Given the description of an element on the screen output the (x, y) to click on. 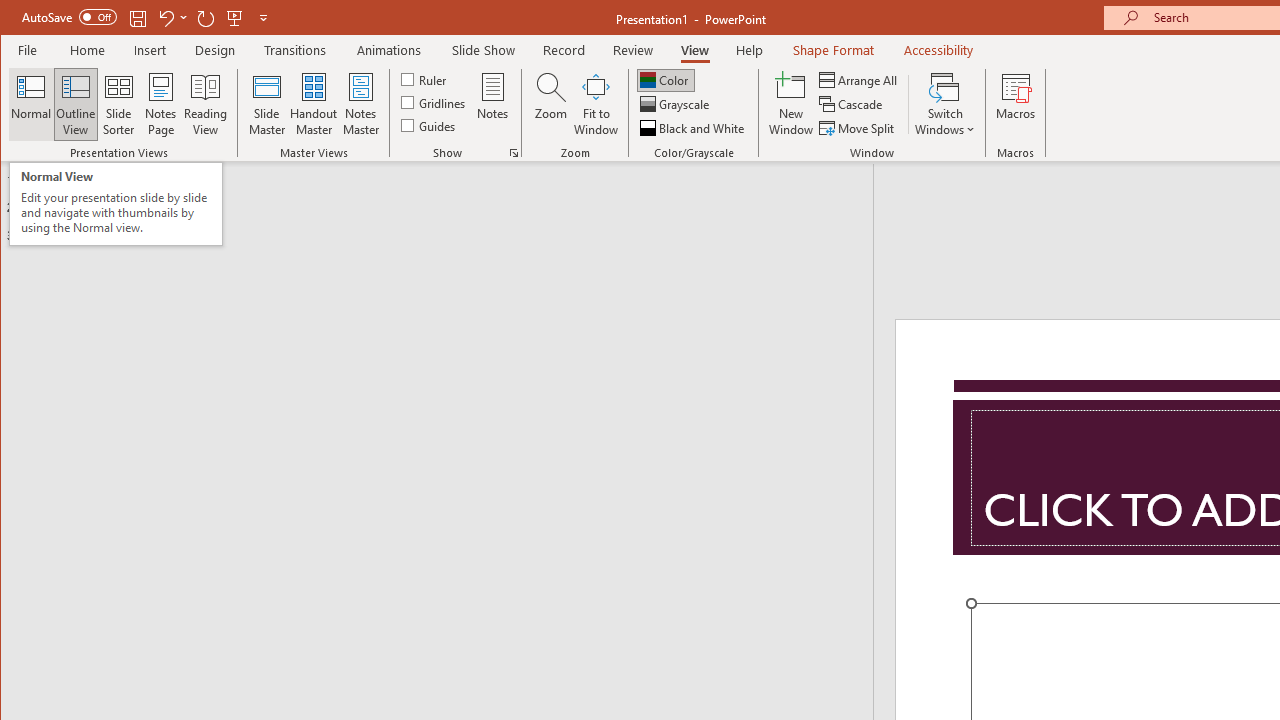
Handout Master (314, 104)
Ruler (425, 78)
Arrange All (859, 80)
Guides (430, 124)
Cascade (852, 103)
Color (666, 80)
Gridlines (435, 101)
